Given the description of an element on the screen output the (x, y) to click on. 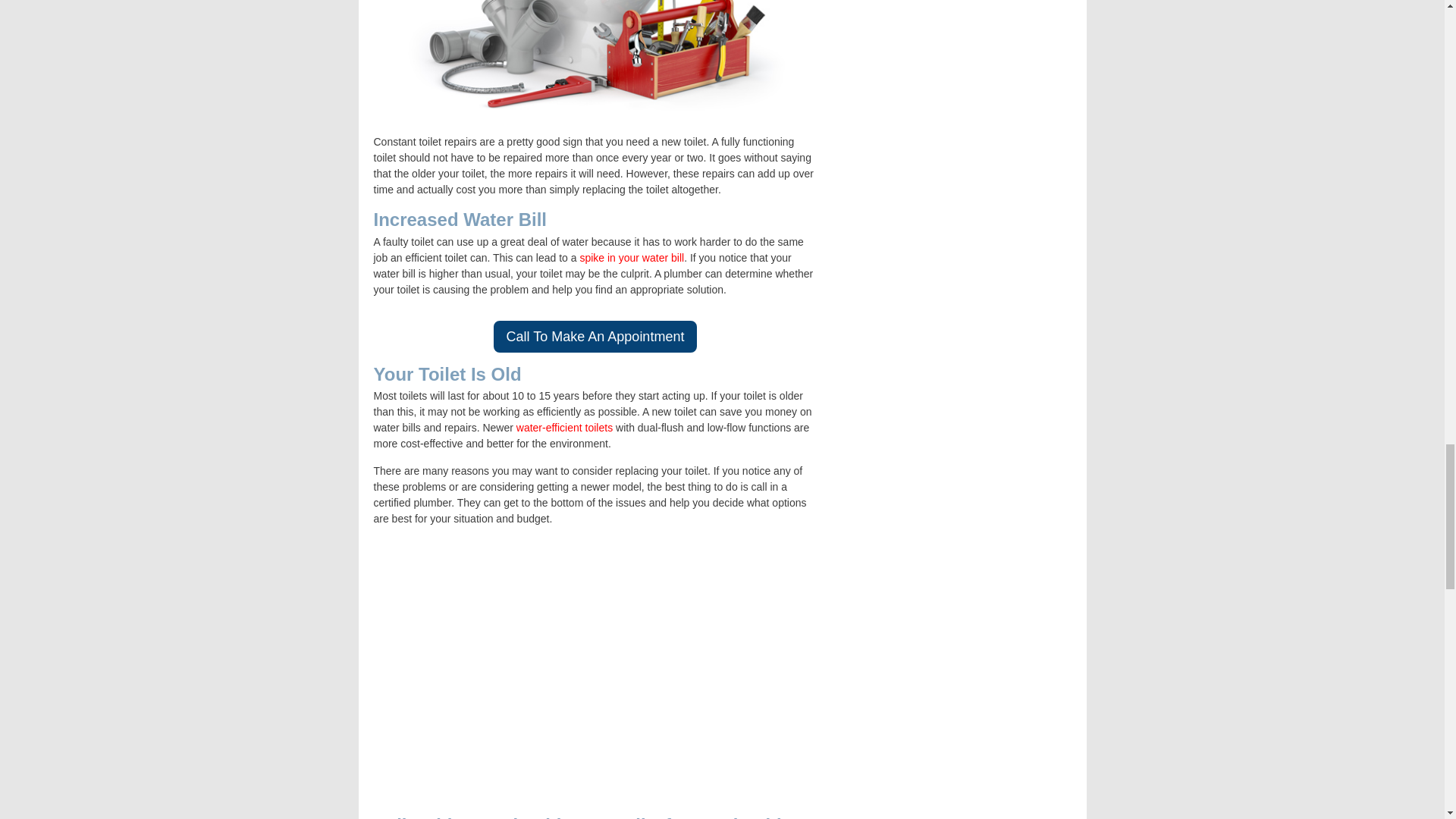
Call To Make An Appointment (595, 336)
water-efficient toilets (564, 427)
spike in your water bill (631, 257)
